Given the description of an element on the screen output the (x, y) to click on. 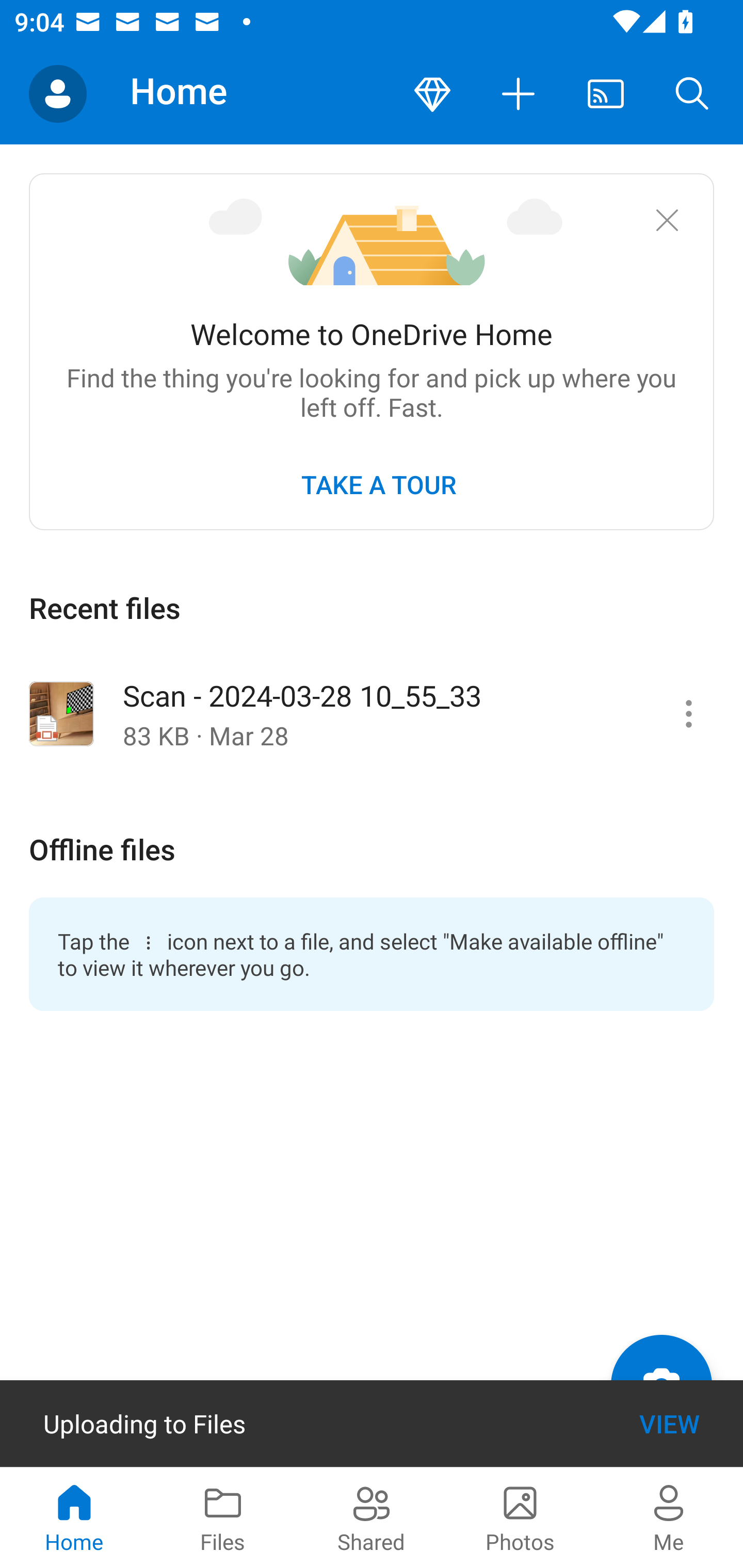
Account switcher (57, 93)
Cast. Disconnected (605, 93)
Premium button (432, 93)
More actions button (518, 93)
Search button (692, 93)
Close (667, 220)
TAKE A TOUR (378, 484)
Scan - 2024-03-28 10_55_33 commands (688, 713)
VIEW (669, 1423)
Files pivot Files (222, 1517)
Shared pivot Shared (371, 1517)
Photos pivot Photos (519, 1517)
Me pivot Me (668, 1517)
